Given the description of an element on the screen output the (x, y) to click on. 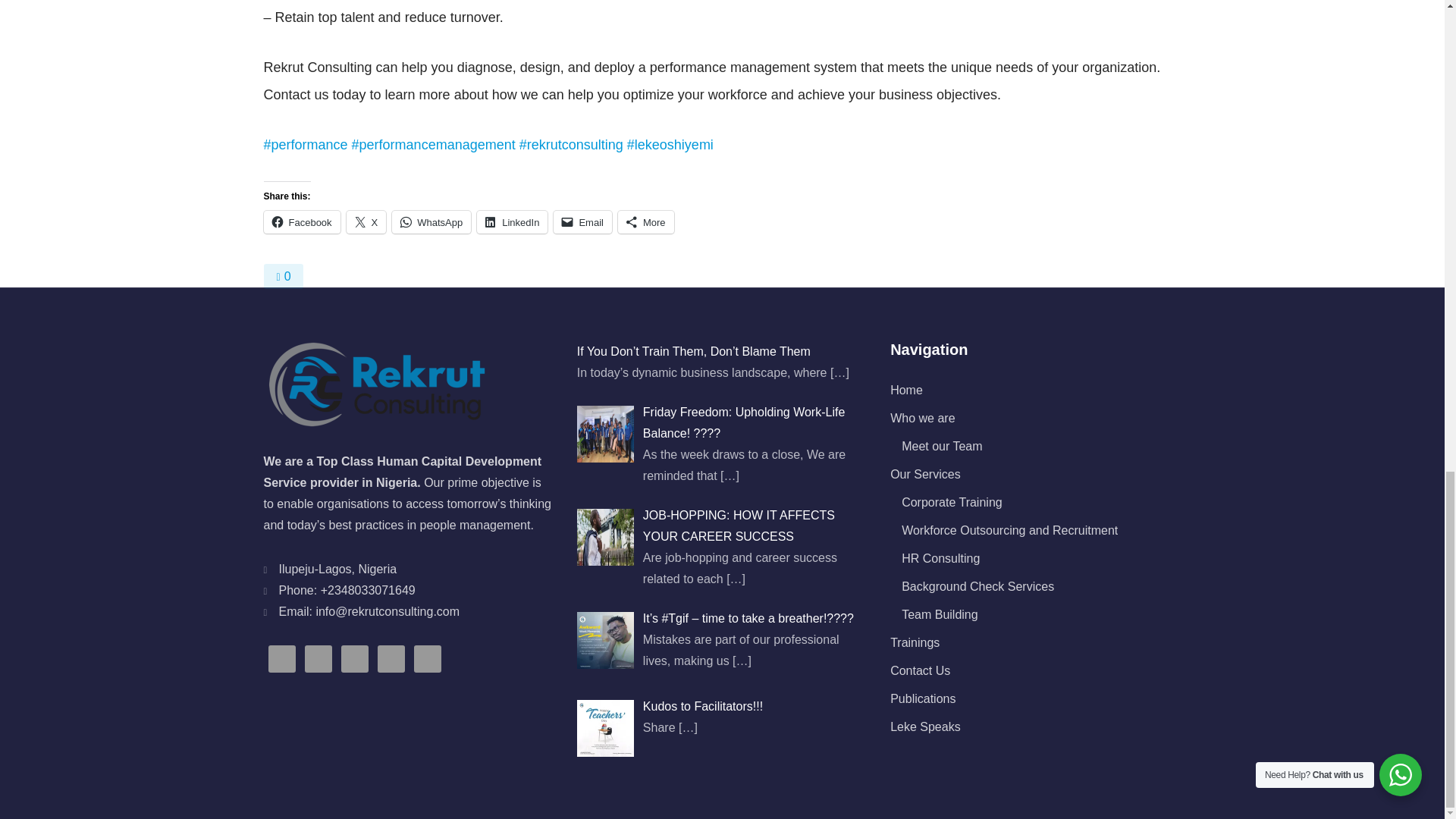
WhatsApp (430, 221)
Click to share on WhatsApp (430, 221)
Email (582, 221)
More (645, 221)
Kudos to Facilitators!!! (702, 706)
Click to share on X (366, 221)
Click to email a link to a friend (582, 221)
0 (282, 276)
Friday Freedom: Upholding Work-Life Balance! ???? (743, 422)
Click to share on Facebook (301, 221)
